Given the description of an element on the screen output the (x, y) to click on. 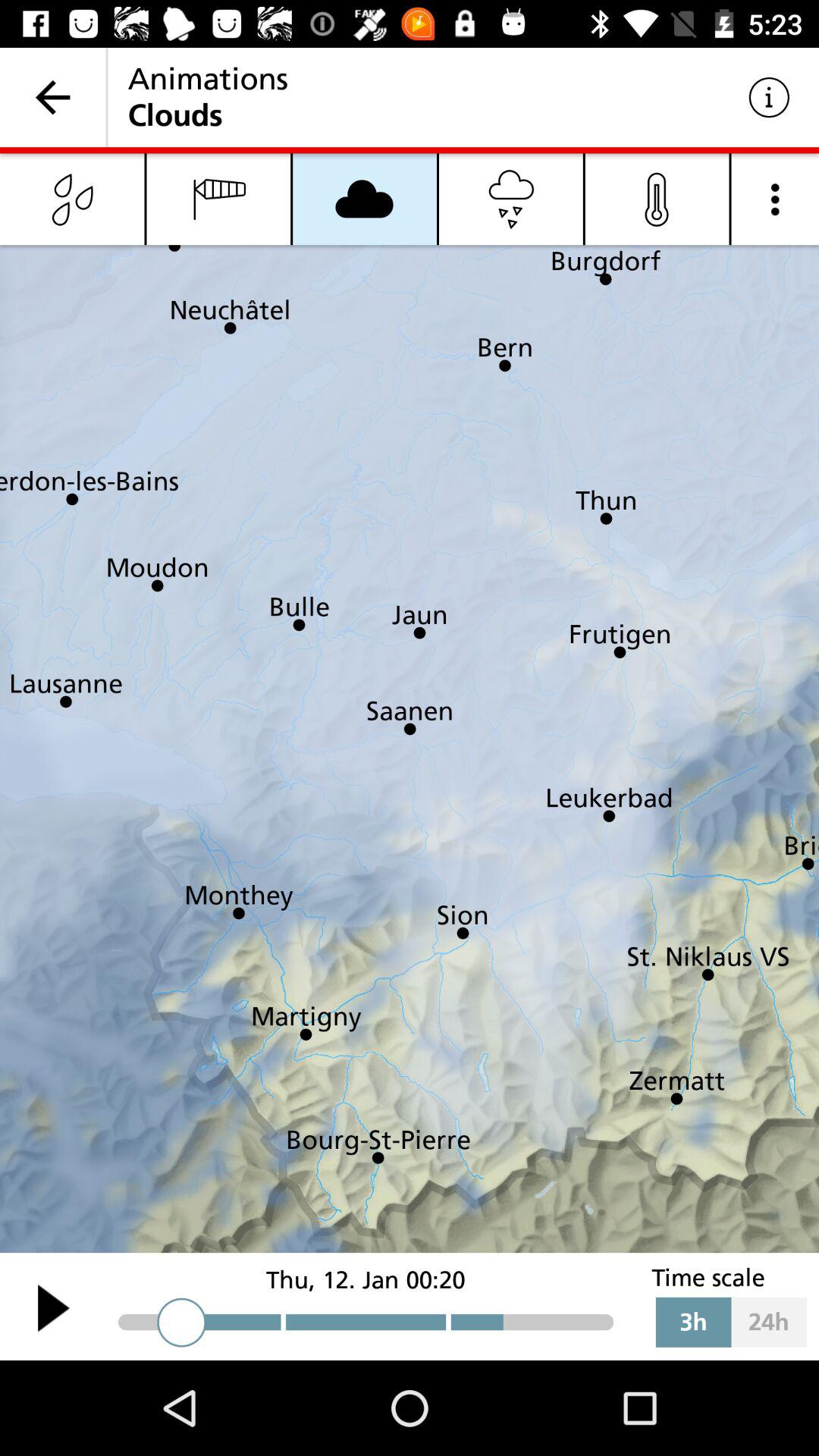
select the icon to the right of animations item (769, 97)
